Given the description of an element on the screen output the (x, y) to click on. 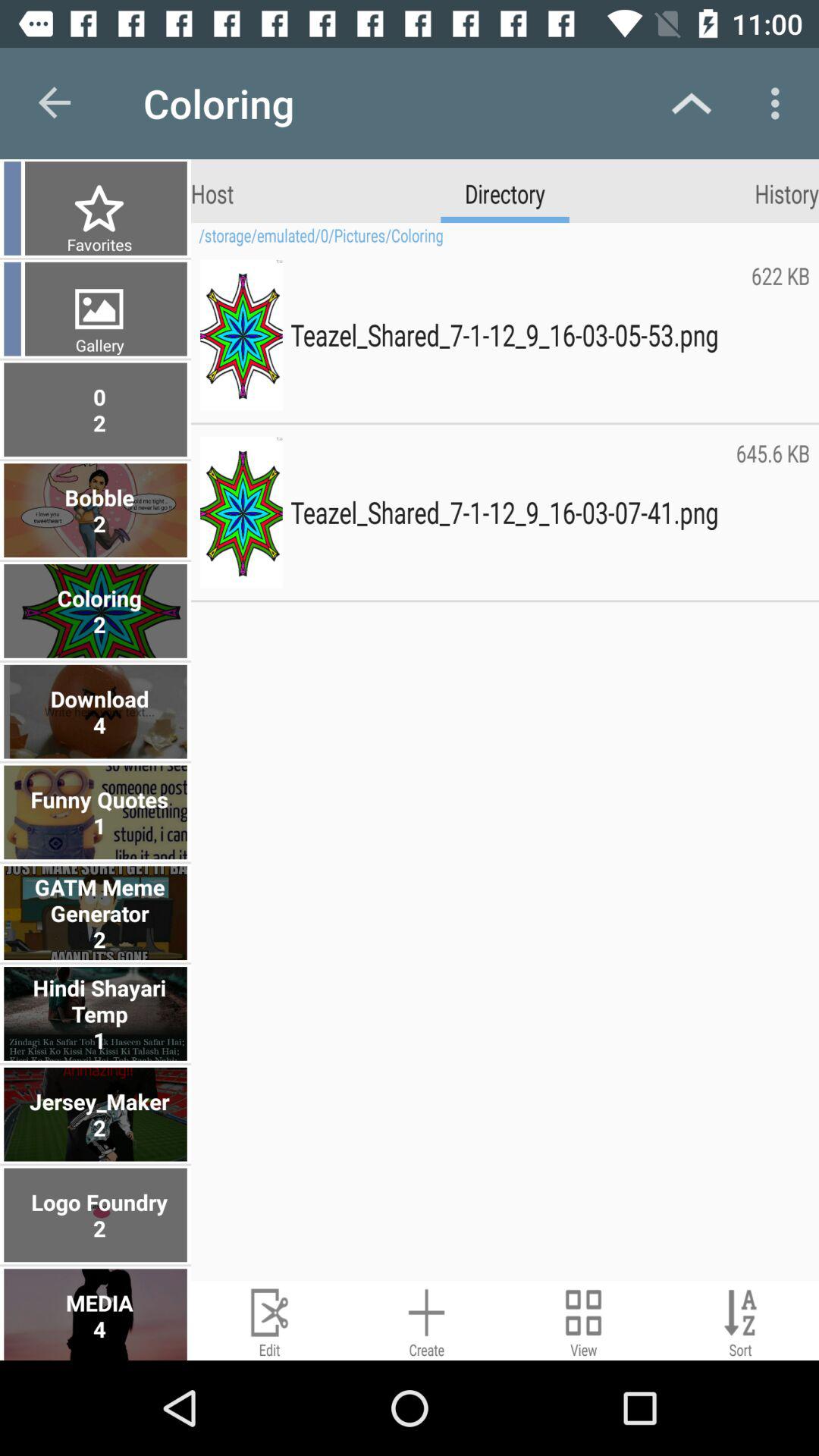
edit image (269, 1320)
